Given the description of an element on the screen output the (x, y) to click on. 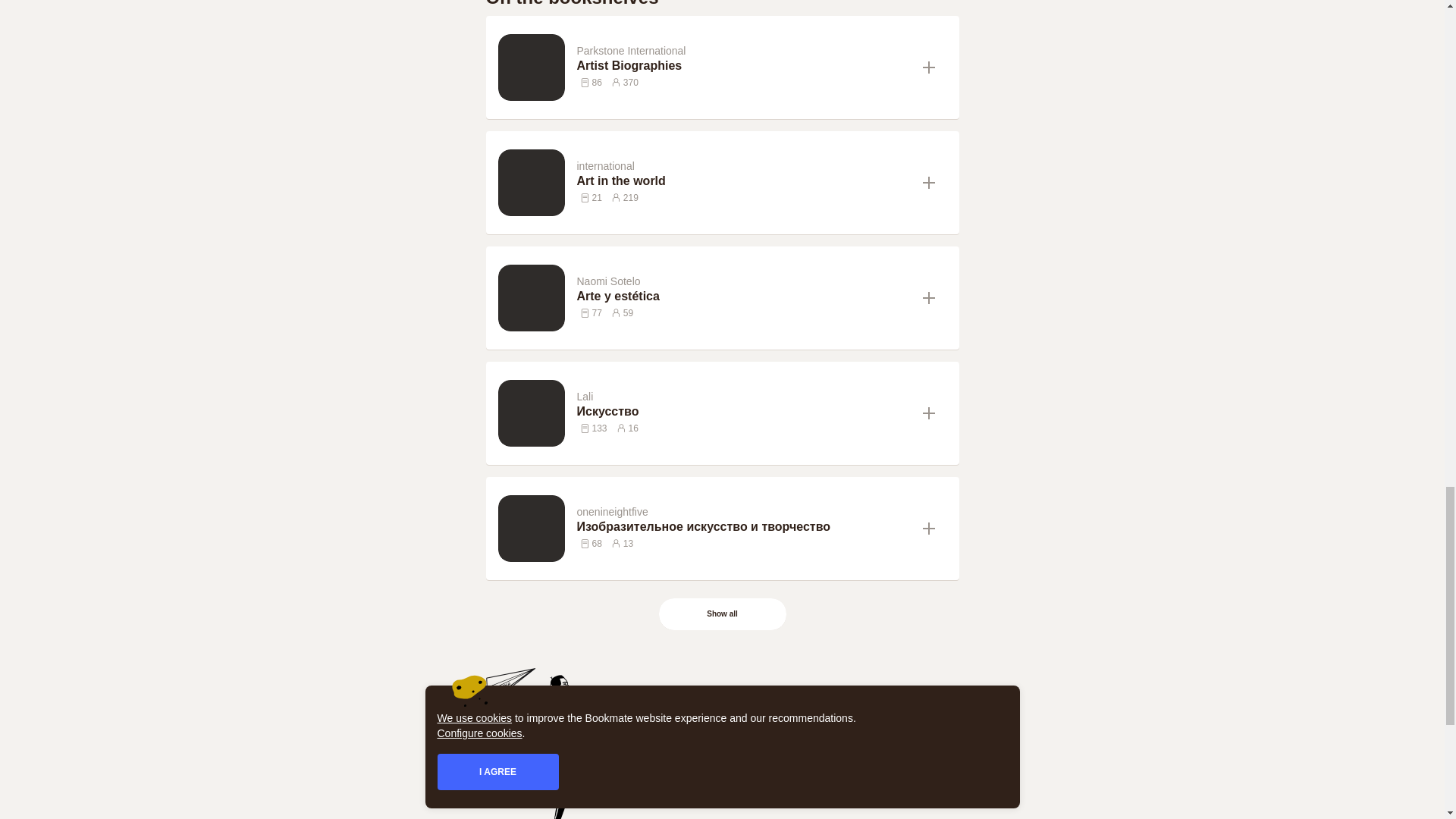
Art in the world (743, 181)
Artist Biographies (743, 65)
